Given the description of an element on the screen output the (x, y) to click on. 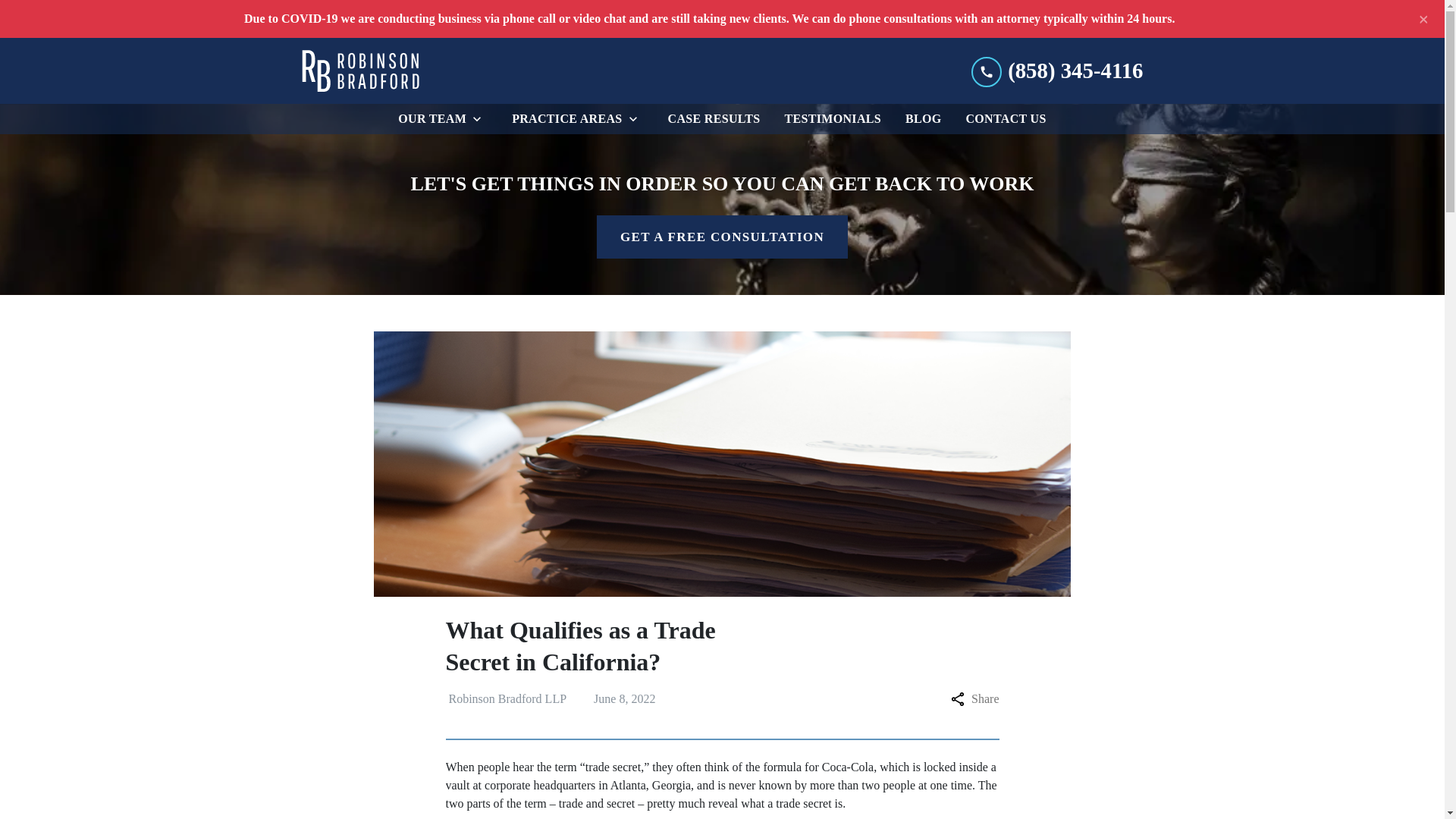
PRACTICE AREAS (563, 119)
GET A FREE CONSULTATION (721, 237)
TESTIMONIALS (832, 119)
OUR TEAM (428, 119)
CONTACT US (1005, 119)
CASE RESULTS (714, 119)
Share (974, 699)
BLOG (923, 119)
